Given the description of an element on the screen output the (x, y) to click on. 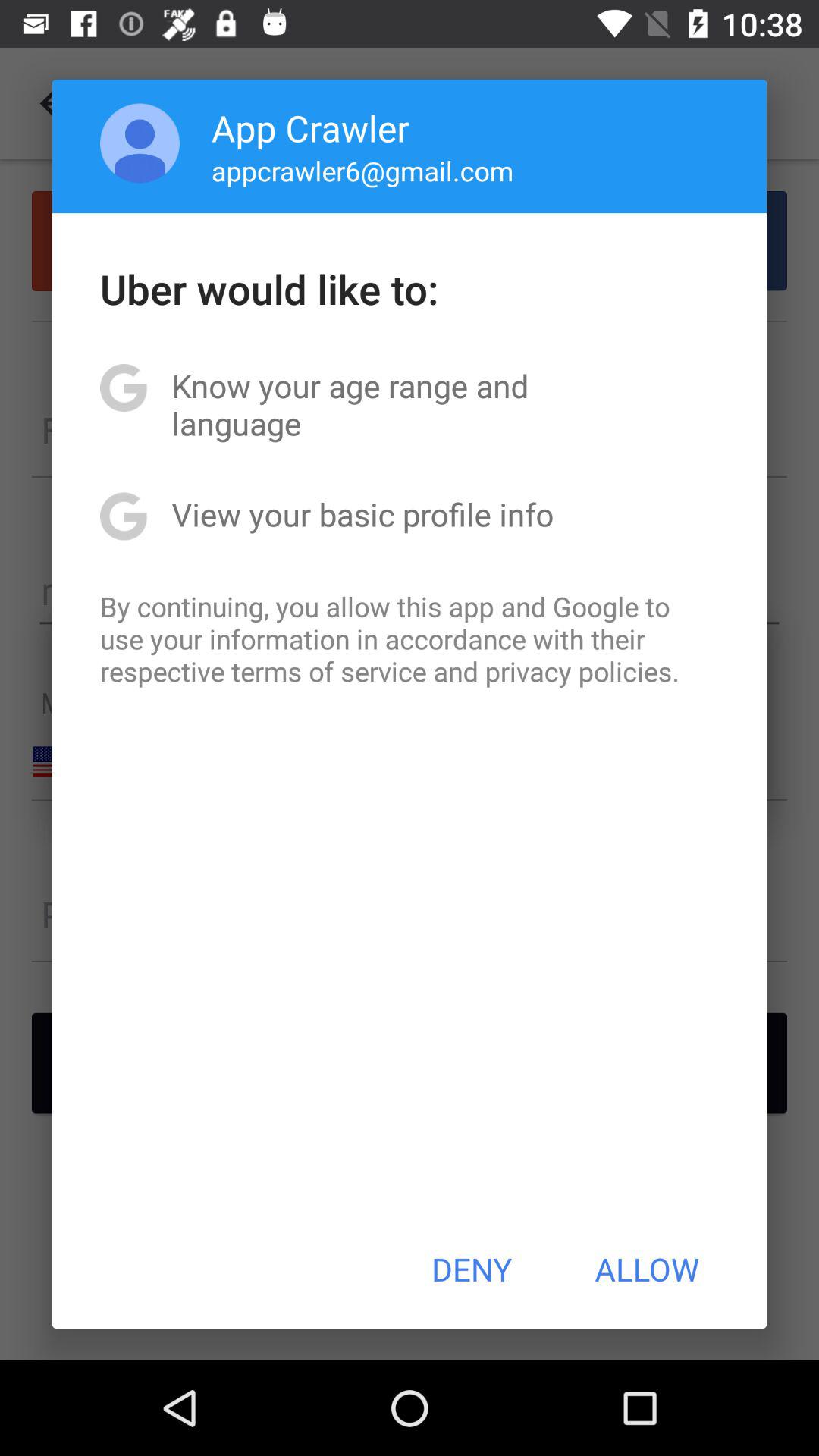
turn off app to the left of the app crawler app (139, 143)
